Given the description of an element on the screen output the (x, y) to click on. 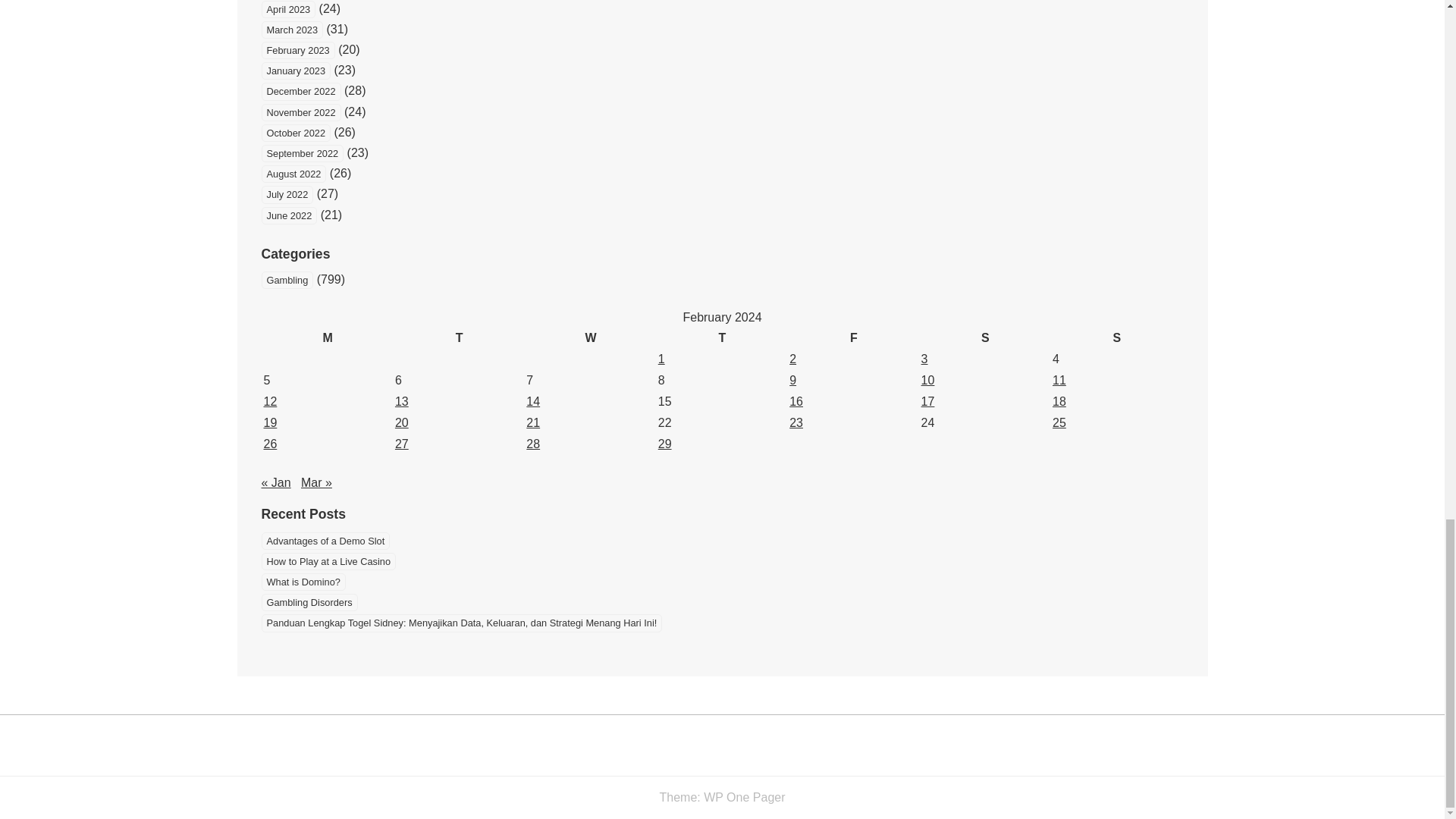
October 2022 (295, 132)
August 2022 (293, 173)
Gambling (286, 280)
July 2022 (286, 194)
Saturday (984, 338)
Wednesday (590, 338)
Thursday (722, 338)
June 2022 (288, 214)
September 2022 (301, 153)
December 2022 (300, 90)
